Given the description of an element on the screen output the (x, y) to click on. 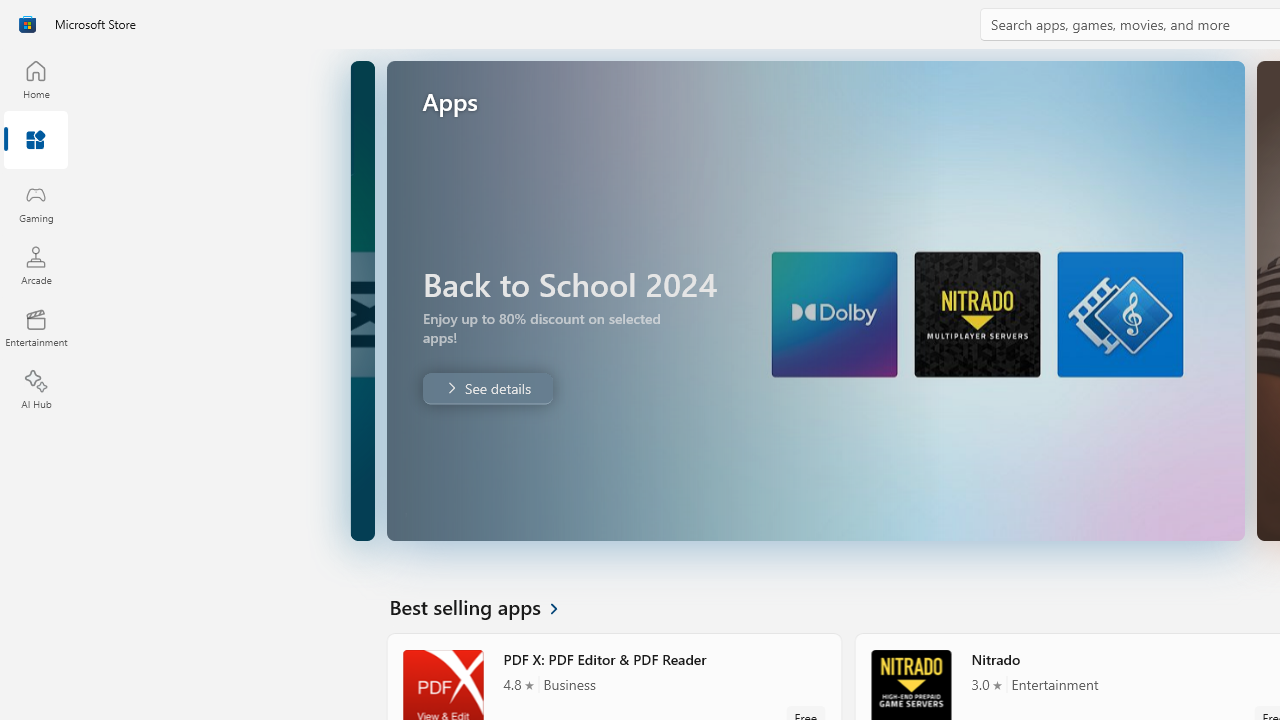
Arcade (35, 265)
AutomationID: Image (814, 300)
Class: Image (27, 24)
Apps (35, 141)
Entertainment (35, 327)
Home (35, 79)
See all  Best selling apps (485, 606)
DTS Sound Unbound. Save 30% now. Free . See details (486, 387)
Gaming (35, 203)
AI Hub (35, 390)
